Given the description of an element on the screen output the (x, y) to click on. 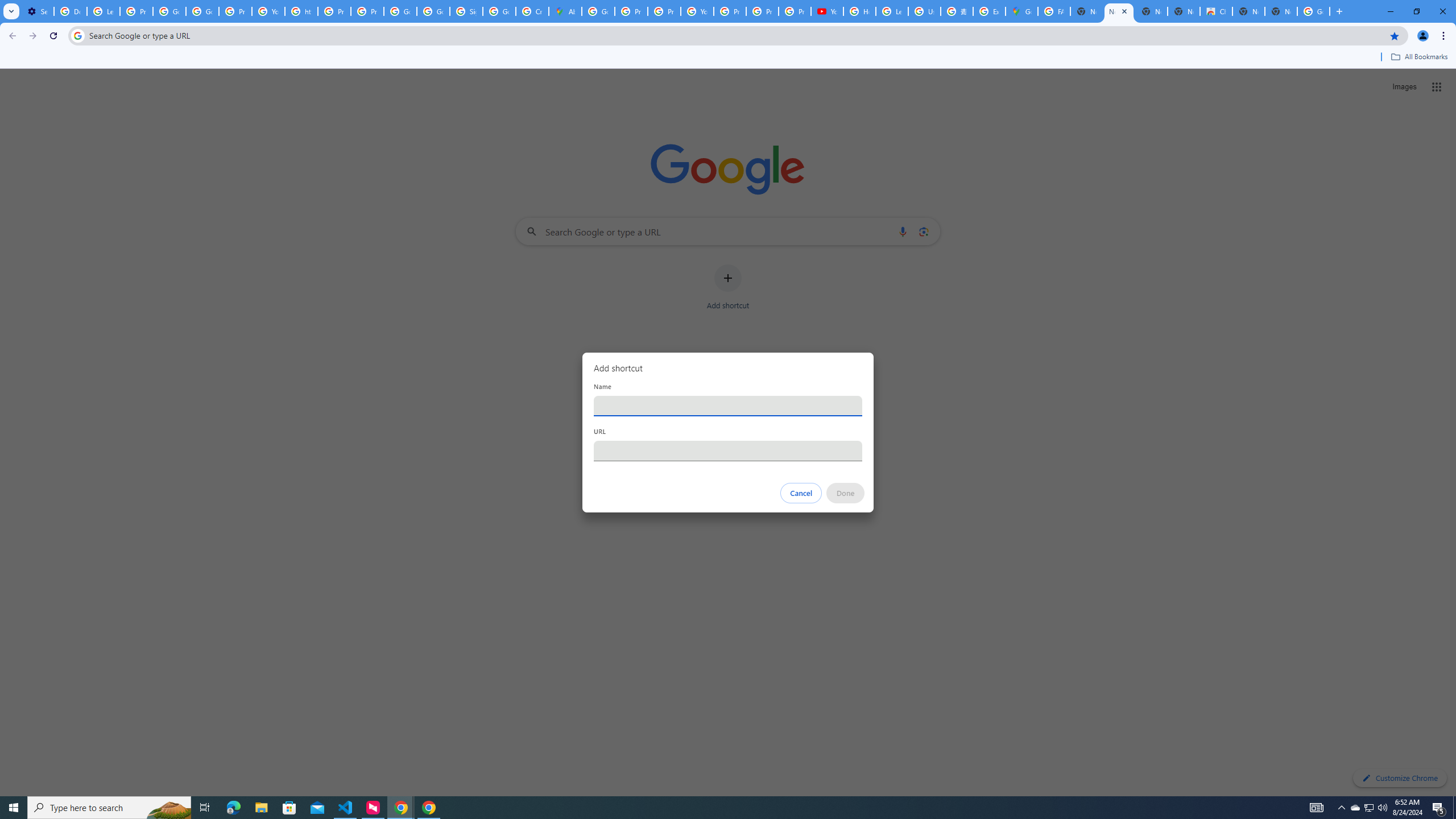
How Chrome protects your passwords - Google Chrome Help (859, 11)
Google Maps (1021, 11)
URL (727, 450)
Privacy Help Center - Policies Help (334, 11)
Cancel (801, 493)
Explore new street-level details - Google Maps Help (989, 11)
Google Images (1313, 11)
YouTube (697, 11)
